Given the description of an element on the screen output the (x, y) to click on. 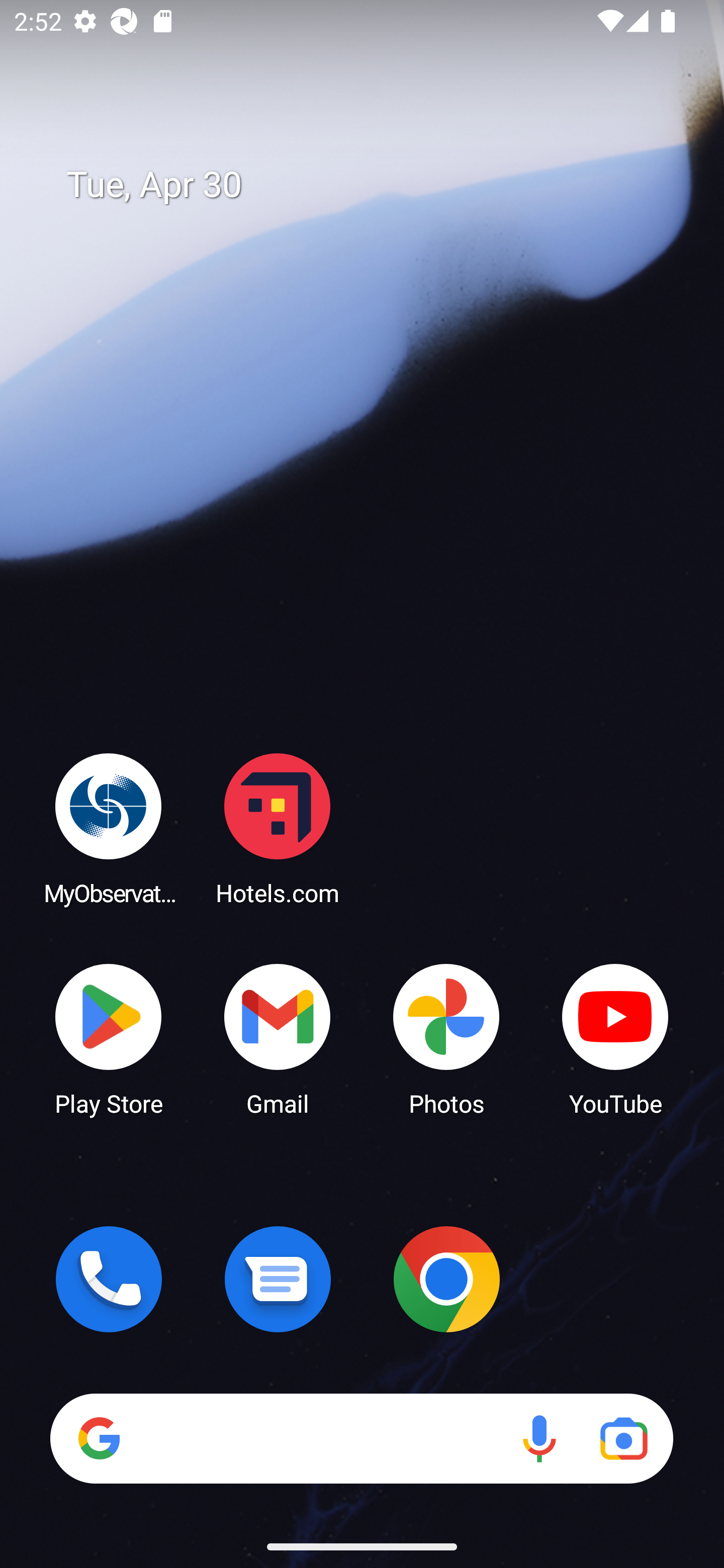
Tue, Apr 30 (375, 184)
MyObservatory (108, 828)
Hotels.com (277, 828)
Play Store (108, 1038)
Gmail (277, 1038)
Photos (445, 1038)
YouTube (615, 1038)
Phone (108, 1279)
Messages (277, 1279)
Chrome (446, 1279)
Voice search (539, 1438)
Google Lens (623, 1438)
